Given the description of an element on the screen output the (x, y) to click on. 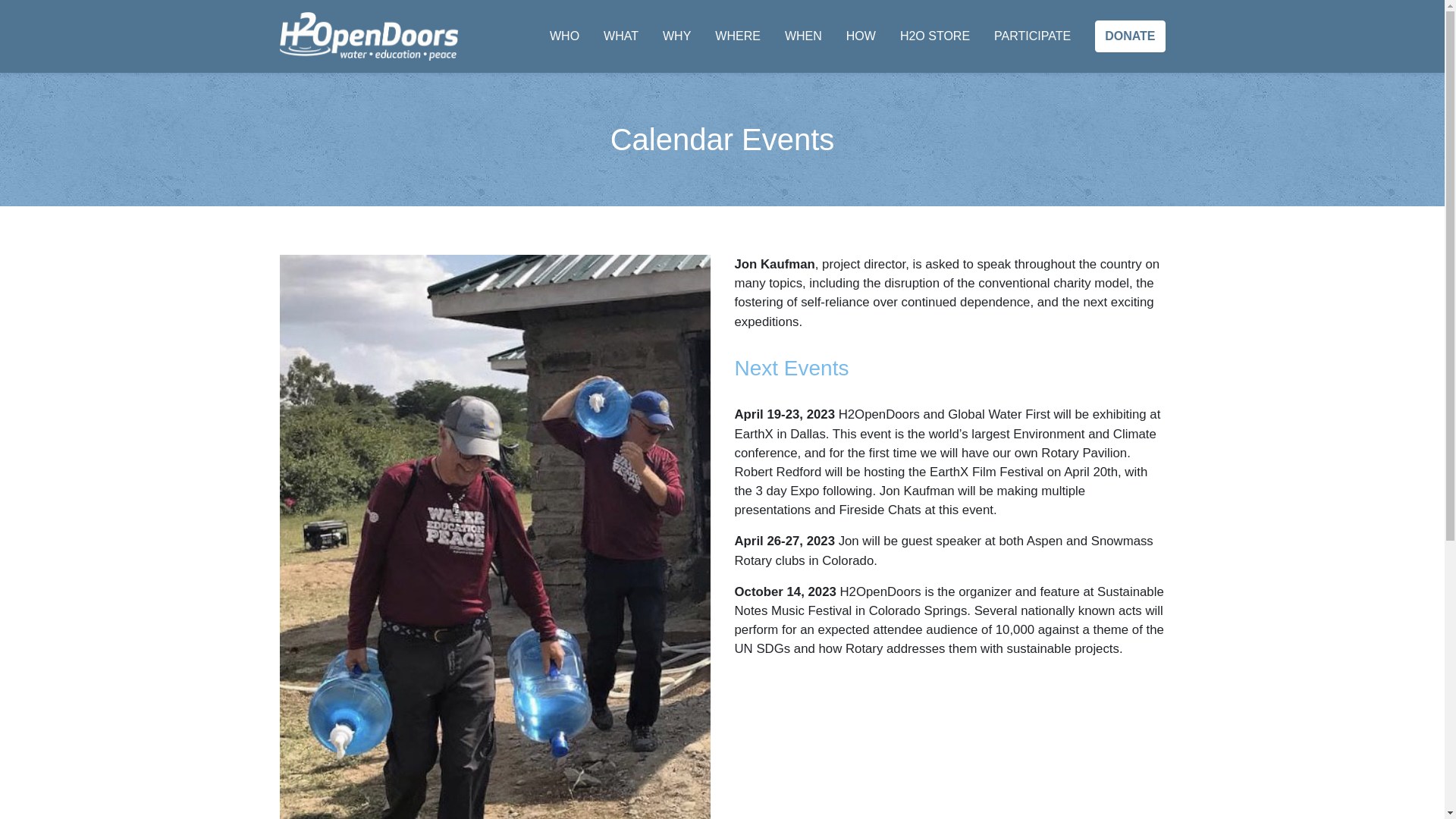
PARTICIPATE (1032, 35)
Who we are (564, 35)
Calendar Events (803, 35)
What we do (621, 35)
HOW (860, 35)
WHEN (803, 35)
H2O STORE (934, 35)
WHAT (621, 35)
WHY (676, 35)
Why we do it (676, 35)
Participate (1032, 35)
WHO (564, 35)
How we get it done (860, 35)
Where we work (737, 35)
DONATE (1129, 36)
